Given the description of an element on the screen output the (x, y) to click on. 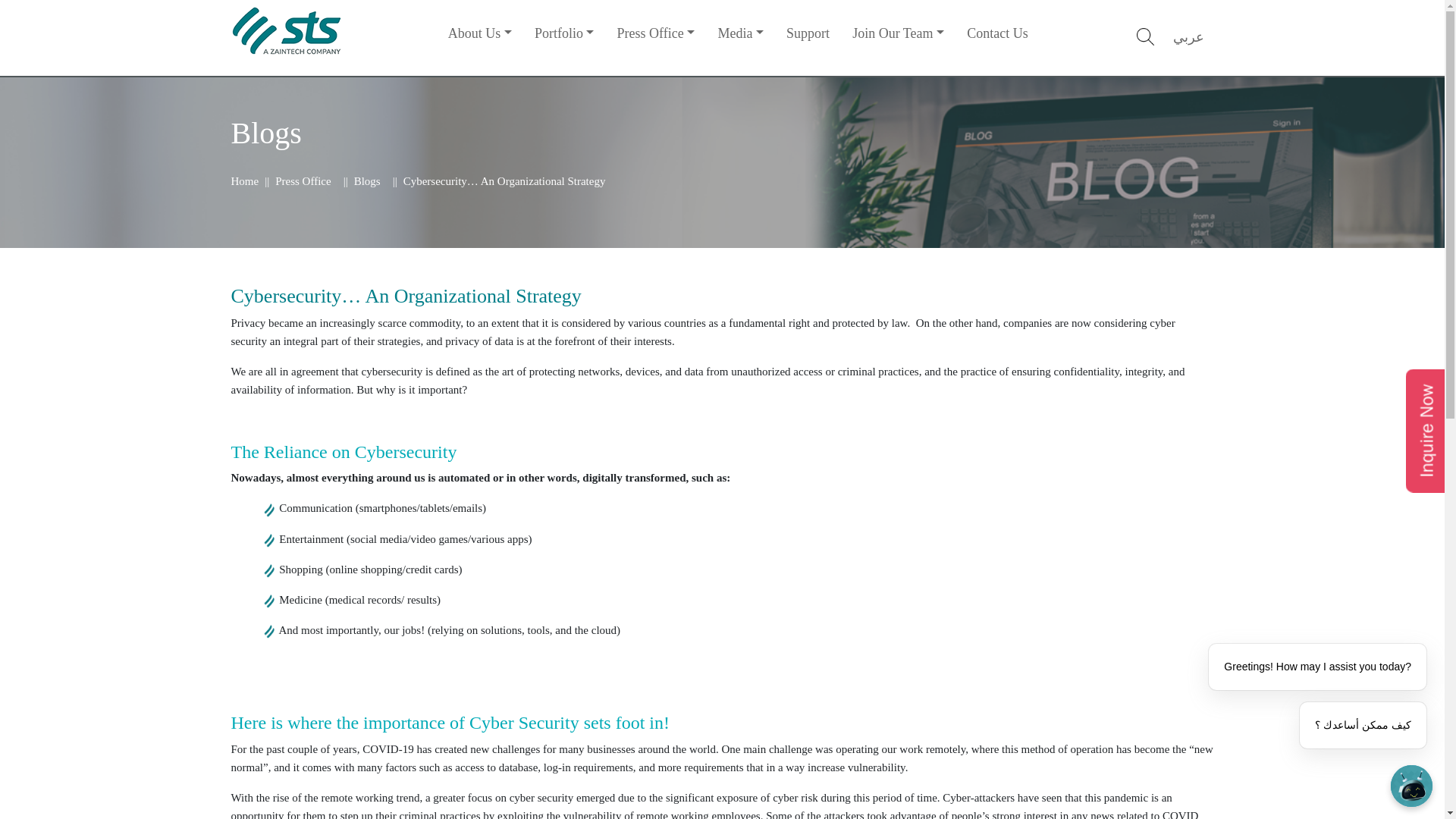
Blogs (366, 181)
Media  (742, 31)
Portfolio  (565, 31)
Contact Us  (998, 31)
About Us  (481, 31)
Press Office  (657, 31)
Home (244, 181)
Support  (809, 31)
Press Office (302, 181)
Join Our Team  (899, 31)
